Given the description of an element on the screen output the (x, y) to click on. 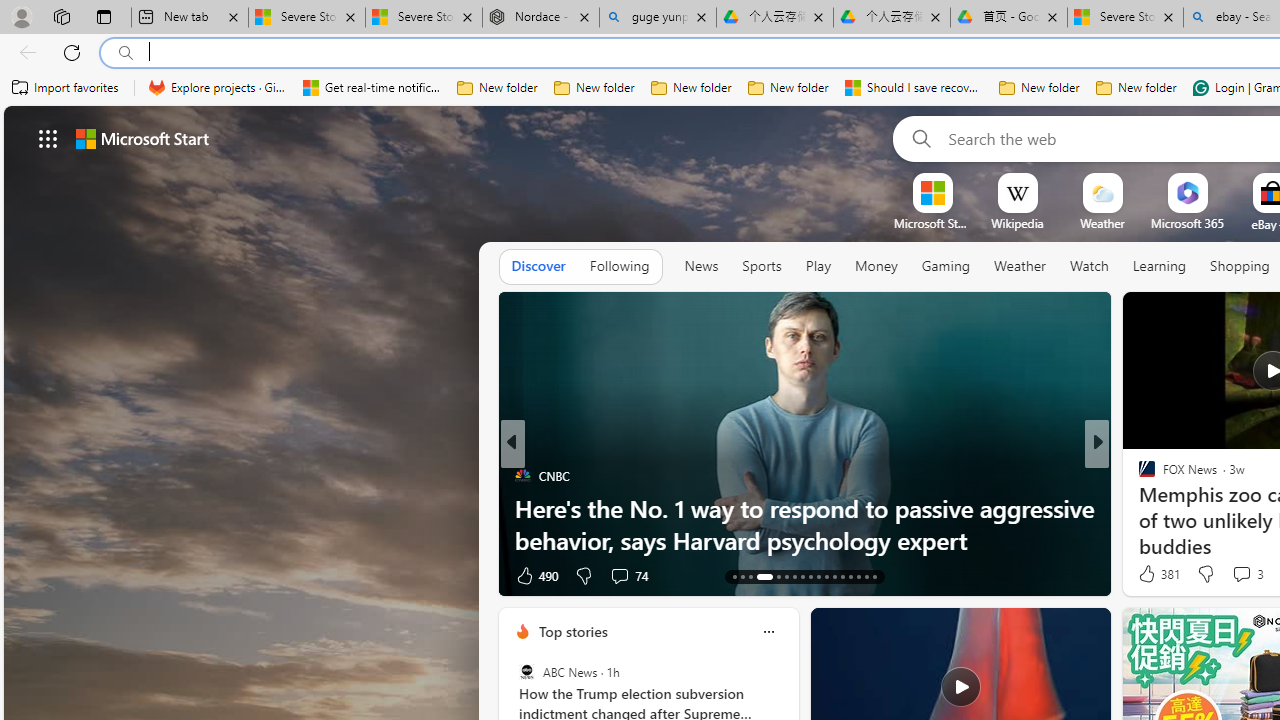
The Manual (1138, 475)
View comments 10 Comment (1237, 574)
78 Like (1149, 574)
guge yunpan - Search (657, 17)
Top stories (572, 631)
AutomationID: tab-14 (742, 576)
AutomationID: tab-15 (750, 576)
Class: icon-img (768, 632)
ABC News (526, 672)
